Given the description of an element on the screen output the (x, y) to click on. 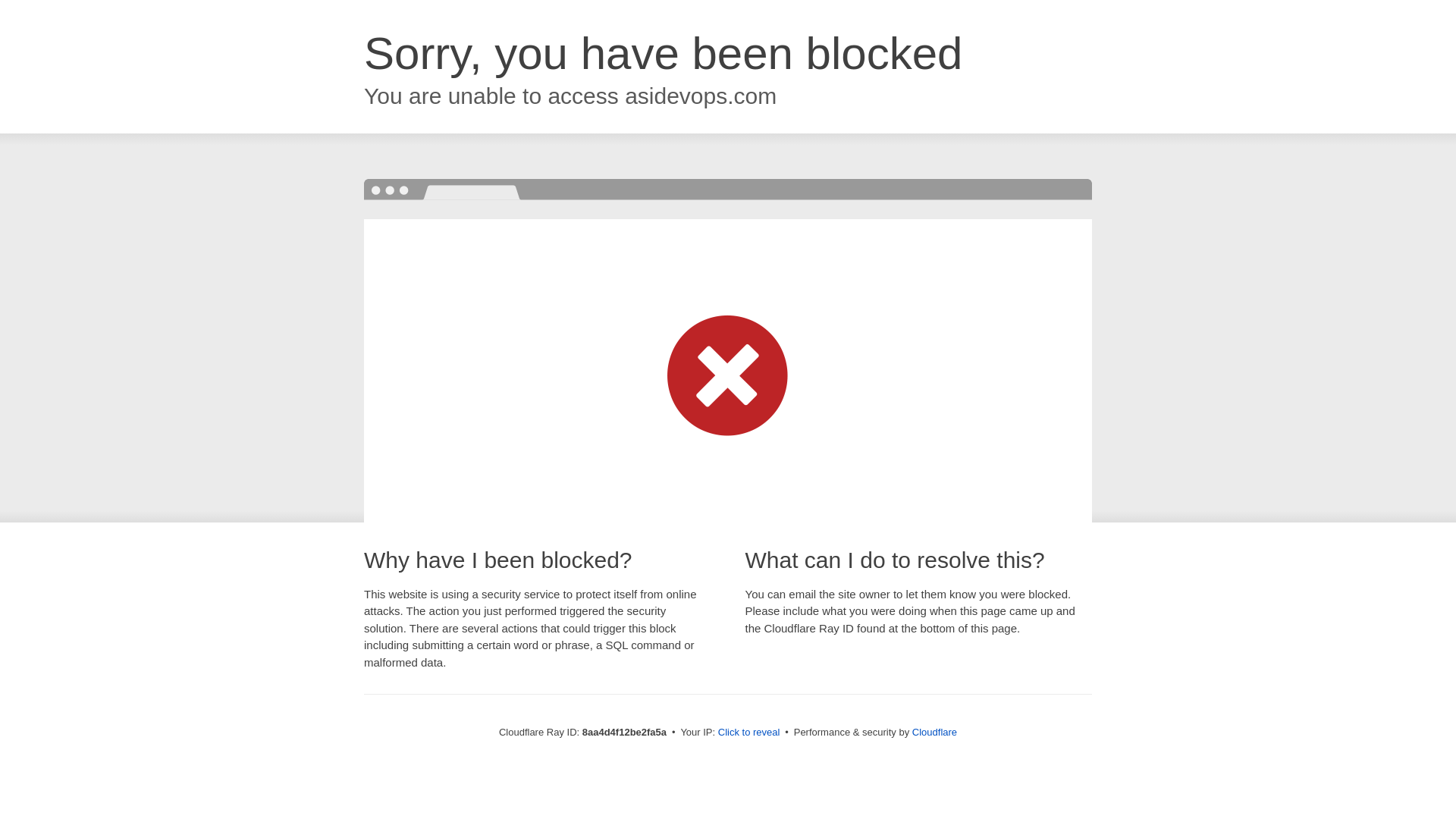
Click to reveal (748, 732)
Cloudflare (934, 731)
